Given the description of an element on the screen output the (x, y) to click on. 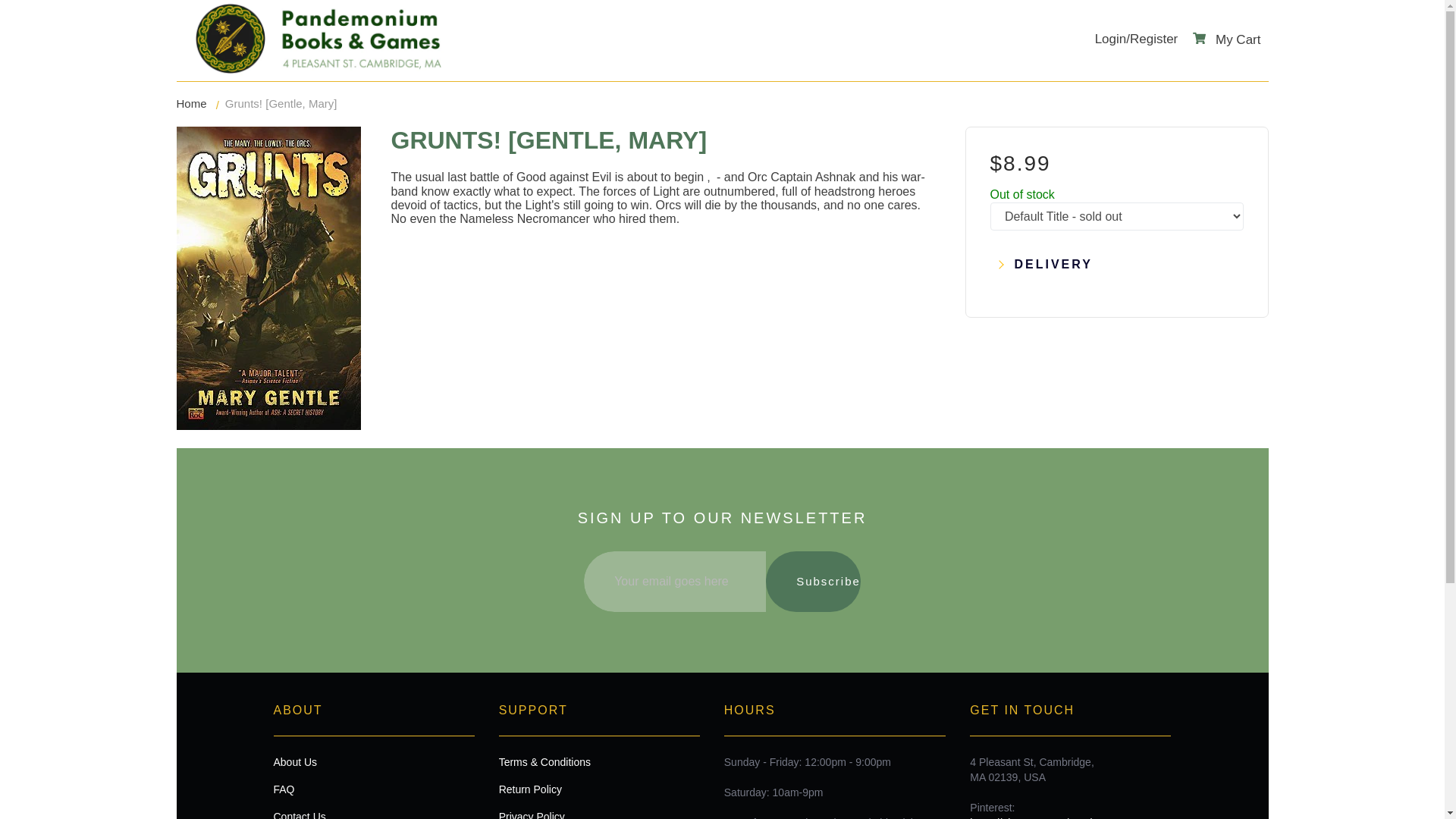
Submit (722, 268)
Subscribe (812, 581)
Return Policy (599, 789)
Contact Us (373, 814)
About Us (373, 761)
Home (191, 103)
My Cart (1226, 39)
FAQ (373, 789)
Privacy Policy (599, 814)
Subscribe (812, 581)
